Given the description of an element on the screen output the (x, y) to click on. 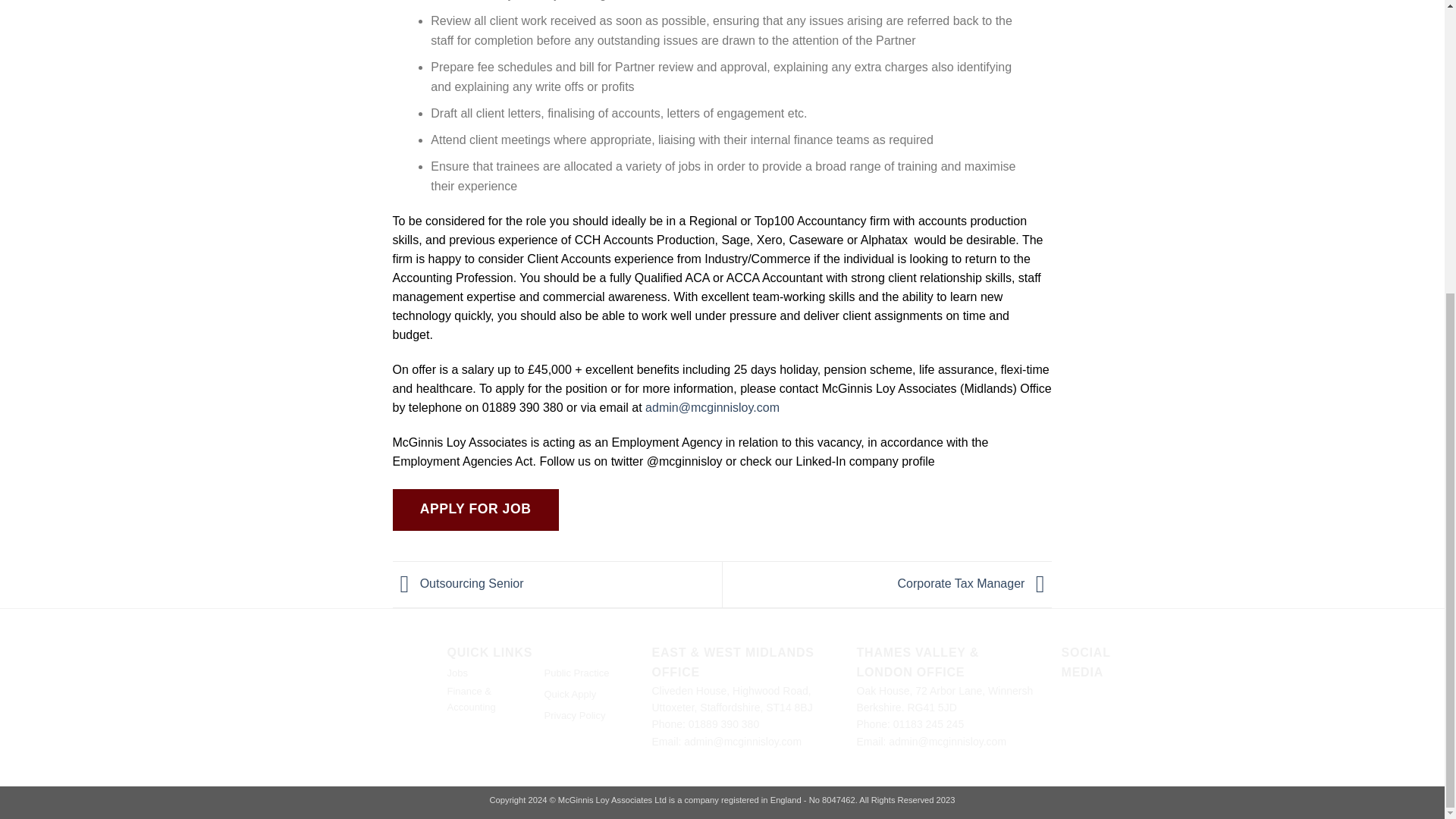
Public Practice (577, 674)
Jobs (456, 674)
Privacy Policy (574, 717)
Quick Apply (570, 696)
Outsourcing Senior (458, 583)
Apply for job (476, 509)
Corporate Tax Manager (975, 583)
